Given the description of an element on the screen output the (x, y) to click on. 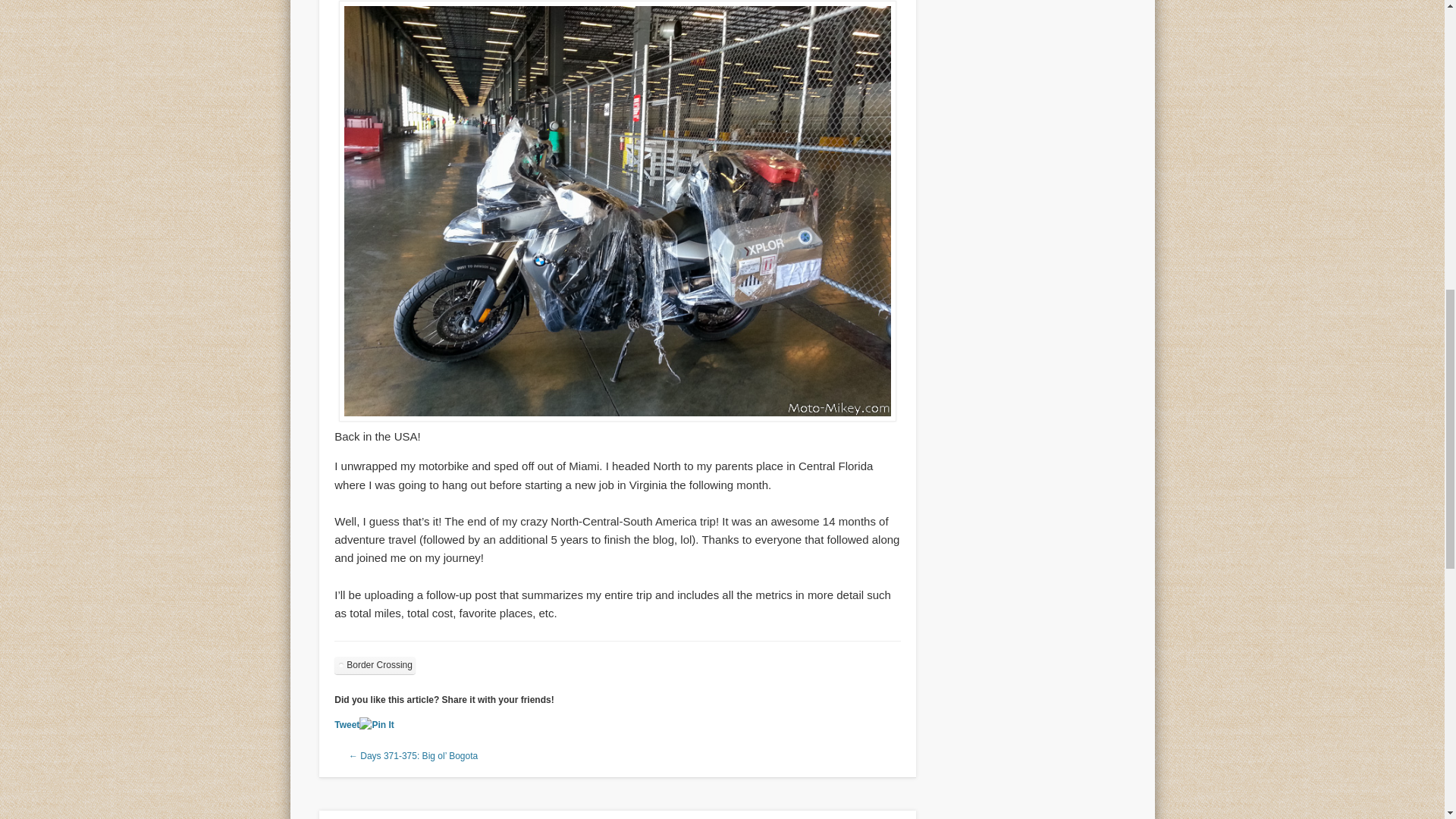
Border Crossing (374, 665)
Tweet (346, 724)
Pin It (376, 725)
